Given the description of an element on the screen output the (x, y) to click on. 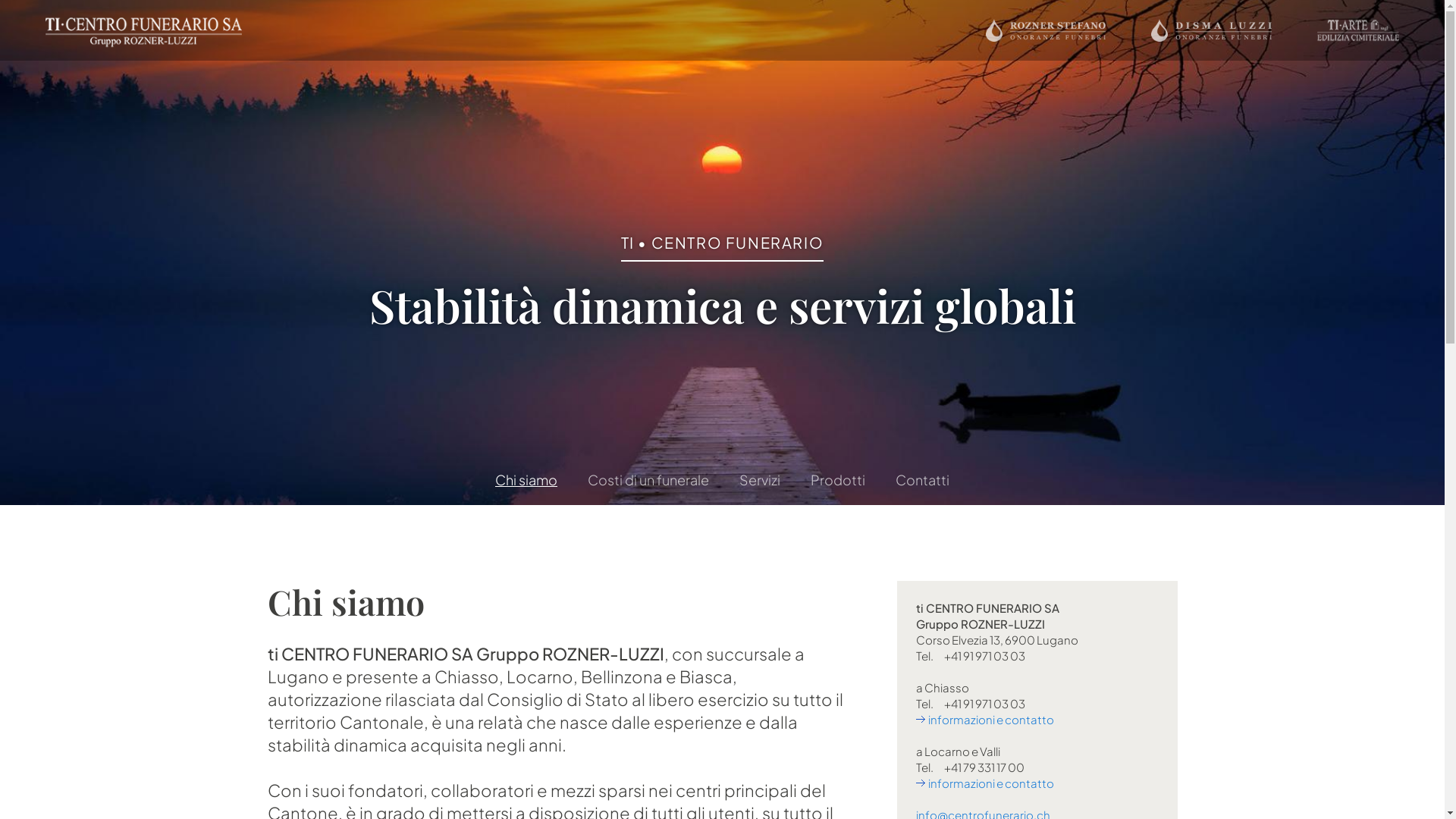
Contatti Element type: text (922, 479)
Prodotti Element type: text (837, 479)
Servizi Element type: text (759, 479)
informazioni e contatto Element type: text (985, 719)
informazioni e contatto Element type: text (985, 782)
Costi di un funerale Element type: text (648, 479)
Chi siamo Element type: text (526, 479)
